Given the description of an element on the screen output the (x, y) to click on. 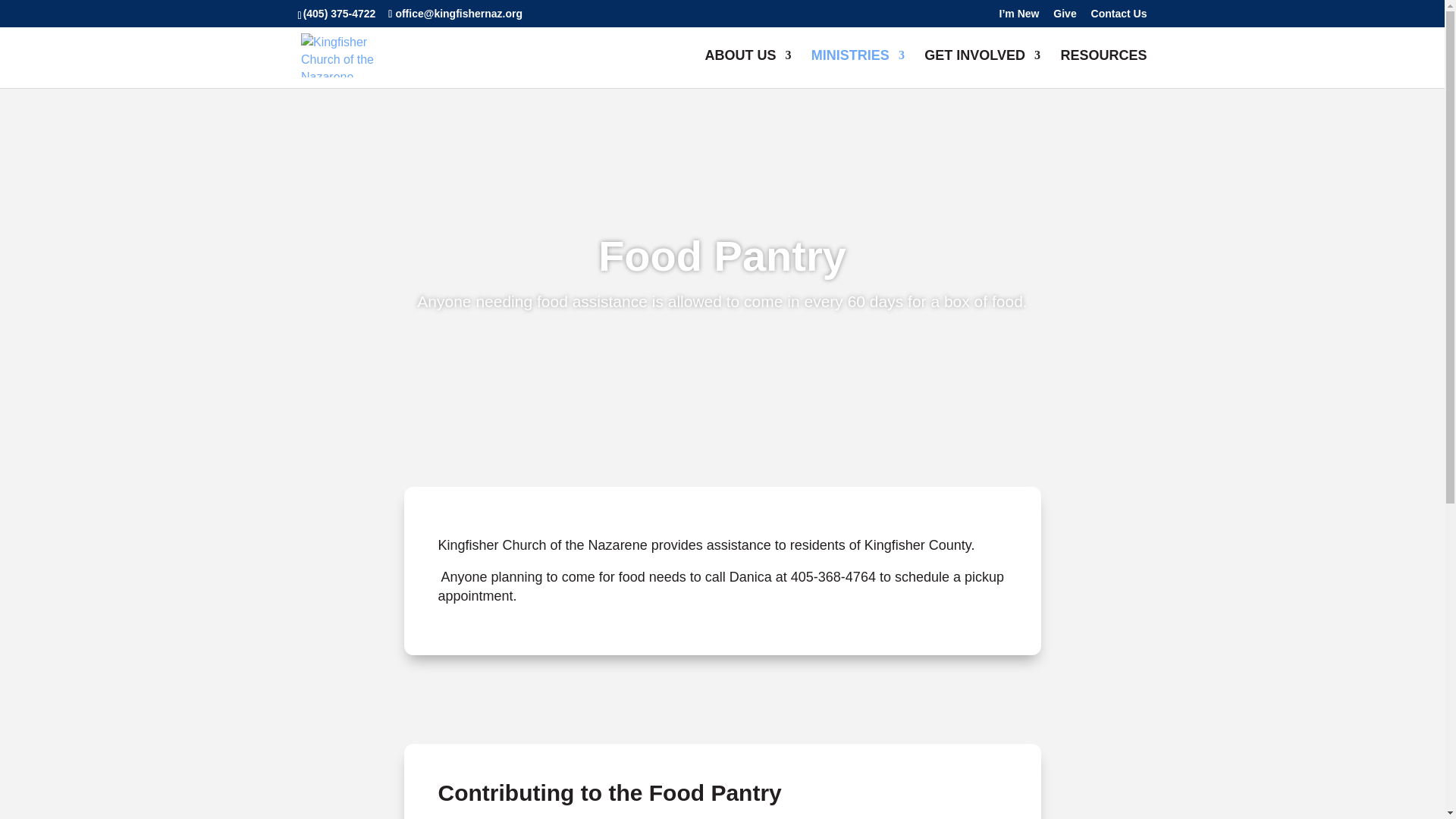
MINISTRIES (857, 68)
Give (1063, 16)
Contact Us (1118, 16)
ABOUT US (747, 68)
GET INVOLVED (982, 68)
RESOURCES (1103, 68)
